Given the description of an element on the screen output the (x, y) to click on. 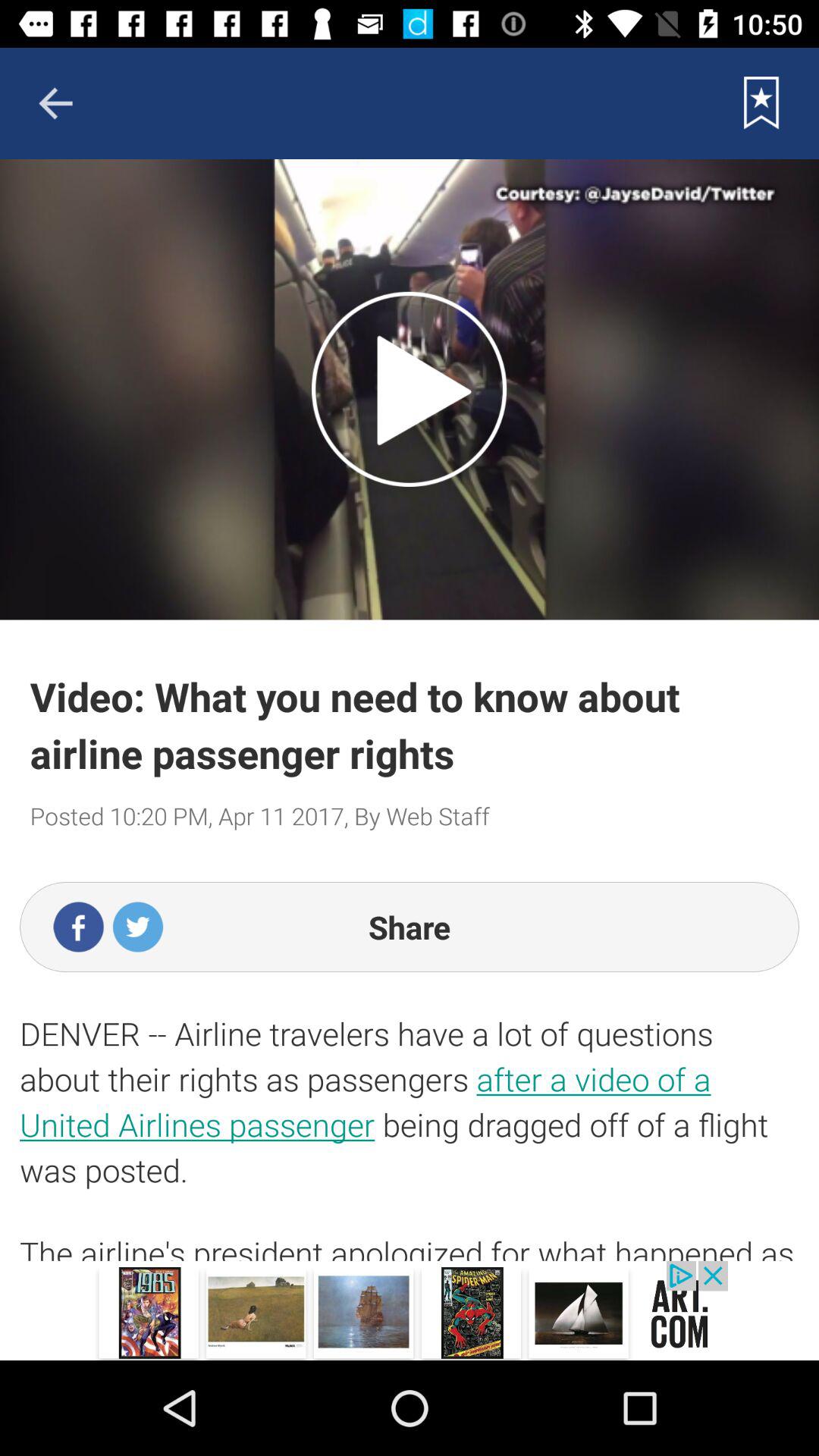
bookmark news article (761, 102)
